Given the description of an element on the screen output the (x, y) to click on. 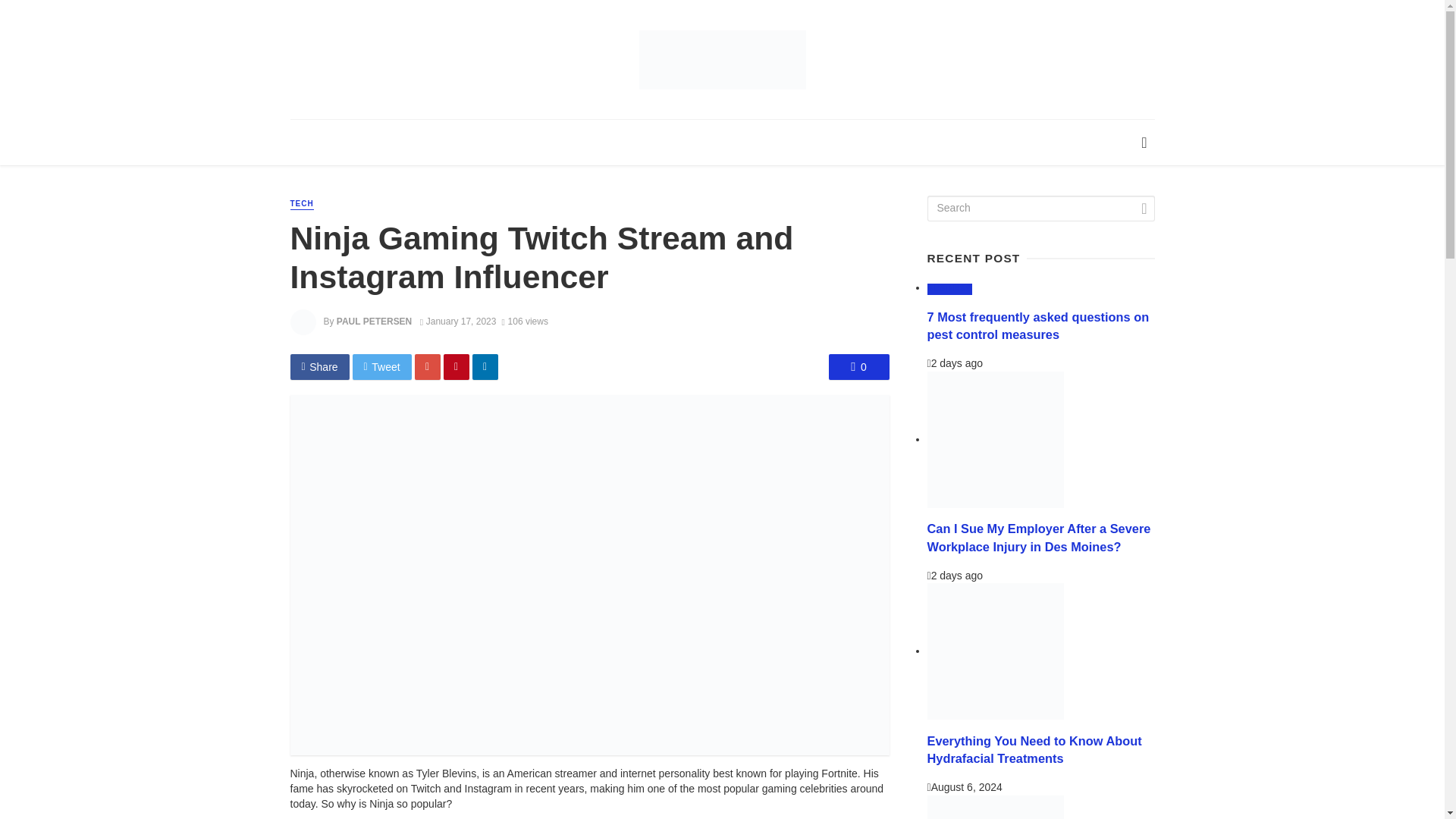
Share on Linkedin (484, 366)
0 Comments (858, 366)
Share on Facebook (319, 366)
0 (858, 366)
7 Most frequently asked questions on pest control measures (1037, 325)
TECH (301, 204)
Posts by Paul Petersen (374, 321)
January 17, 2023 at 6:11 am (458, 321)
PAUL PETERSEN (374, 321)
